Given the description of an element on the screen output the (x, y) to click on. 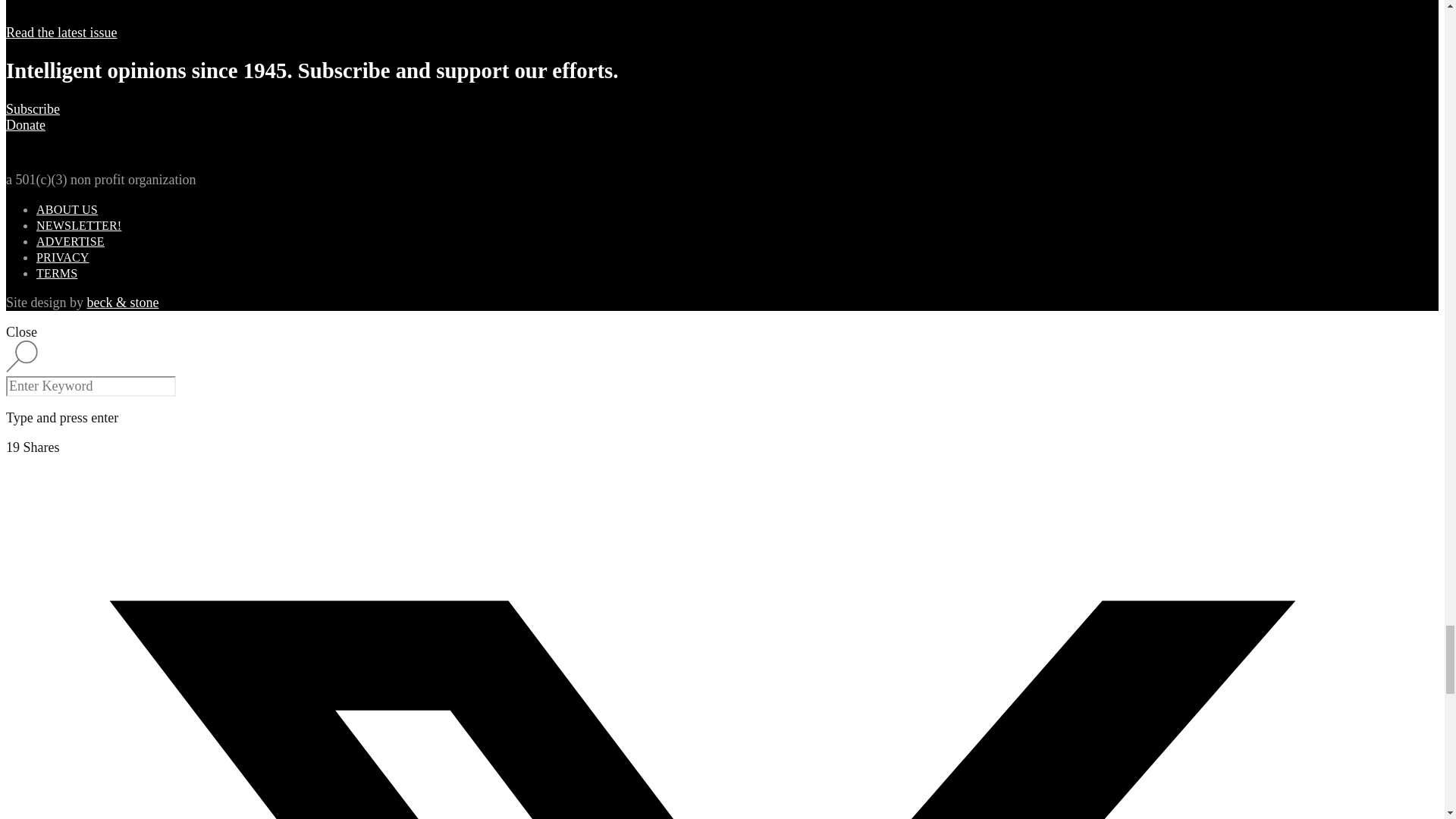
search-alt (21, 356)
Advertise (70, 241)
Privacy Policy (62, 256)
Terms of Use (56, 273)
